Given the description of an element on the screen output the (x, y) to click on. 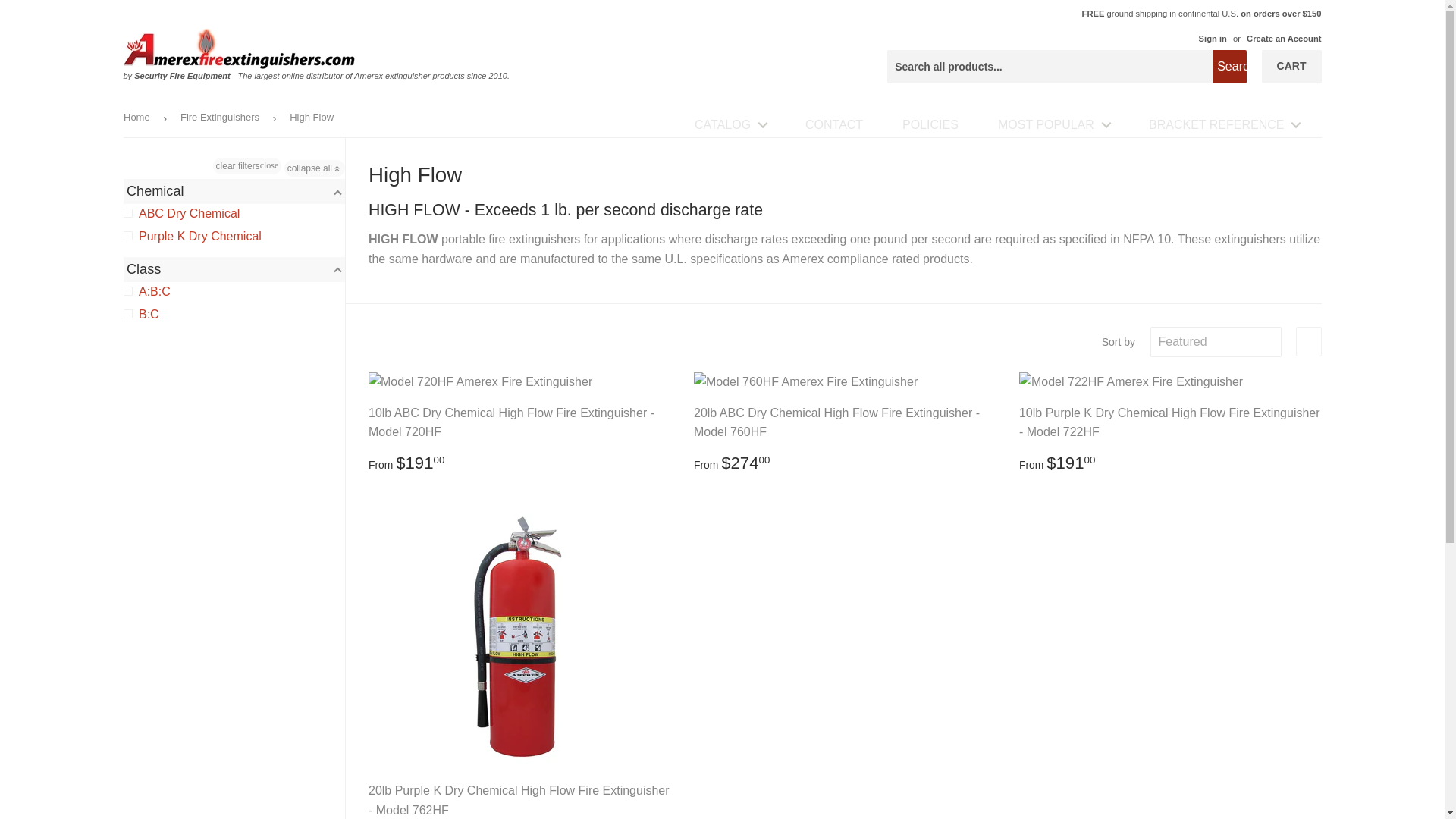
Sign in (1212, 38)
Search (1229, 66)
Create an Account (1283, 38)
CATALOG (730, 124)
CART (1292, 66)
